Given the description of an element on the screen output the (x, y) to click on. 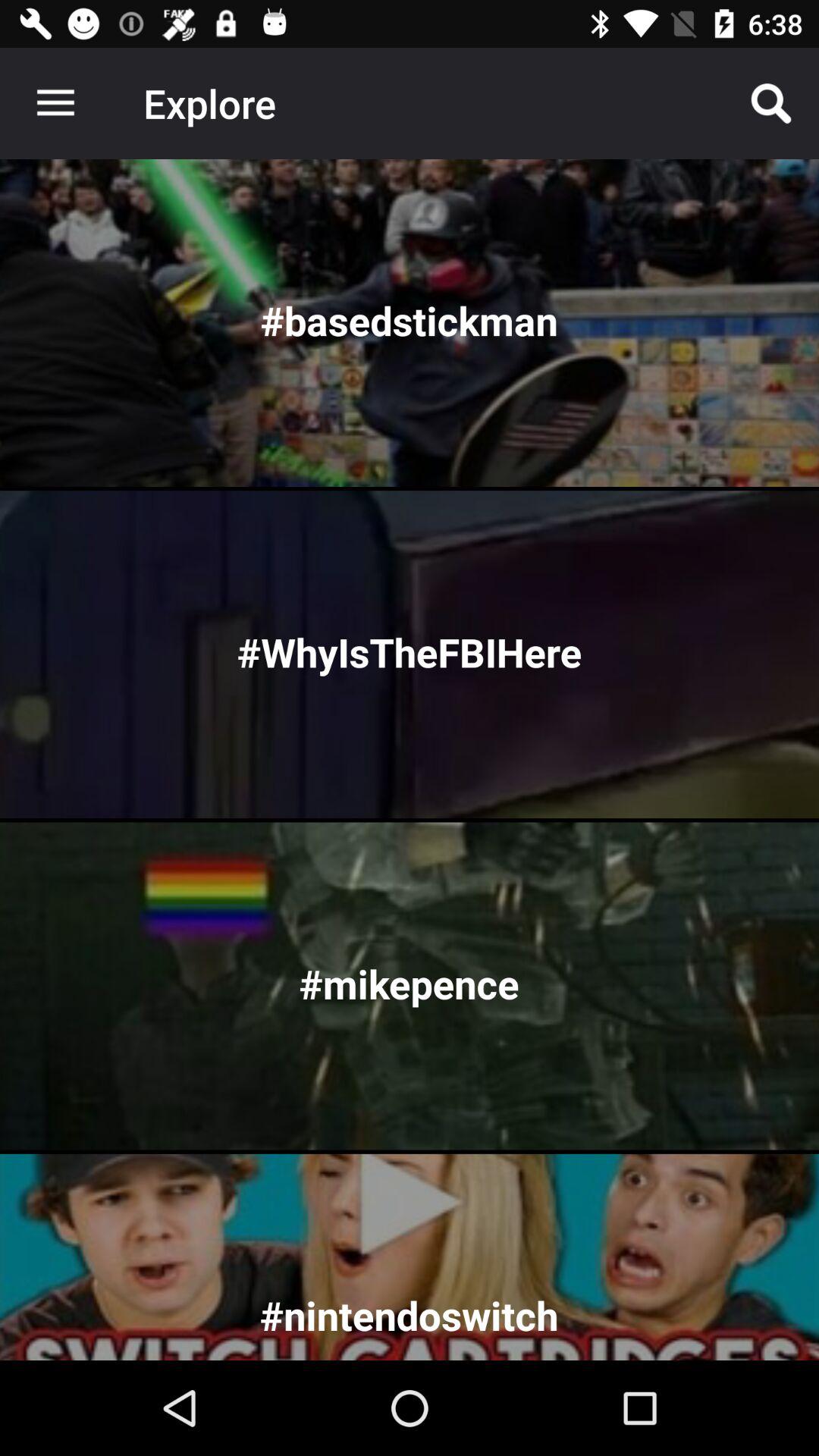
press icon to the right of explore (771, 103)
